Given the description of an element on the screen output the (x, y) to click on. 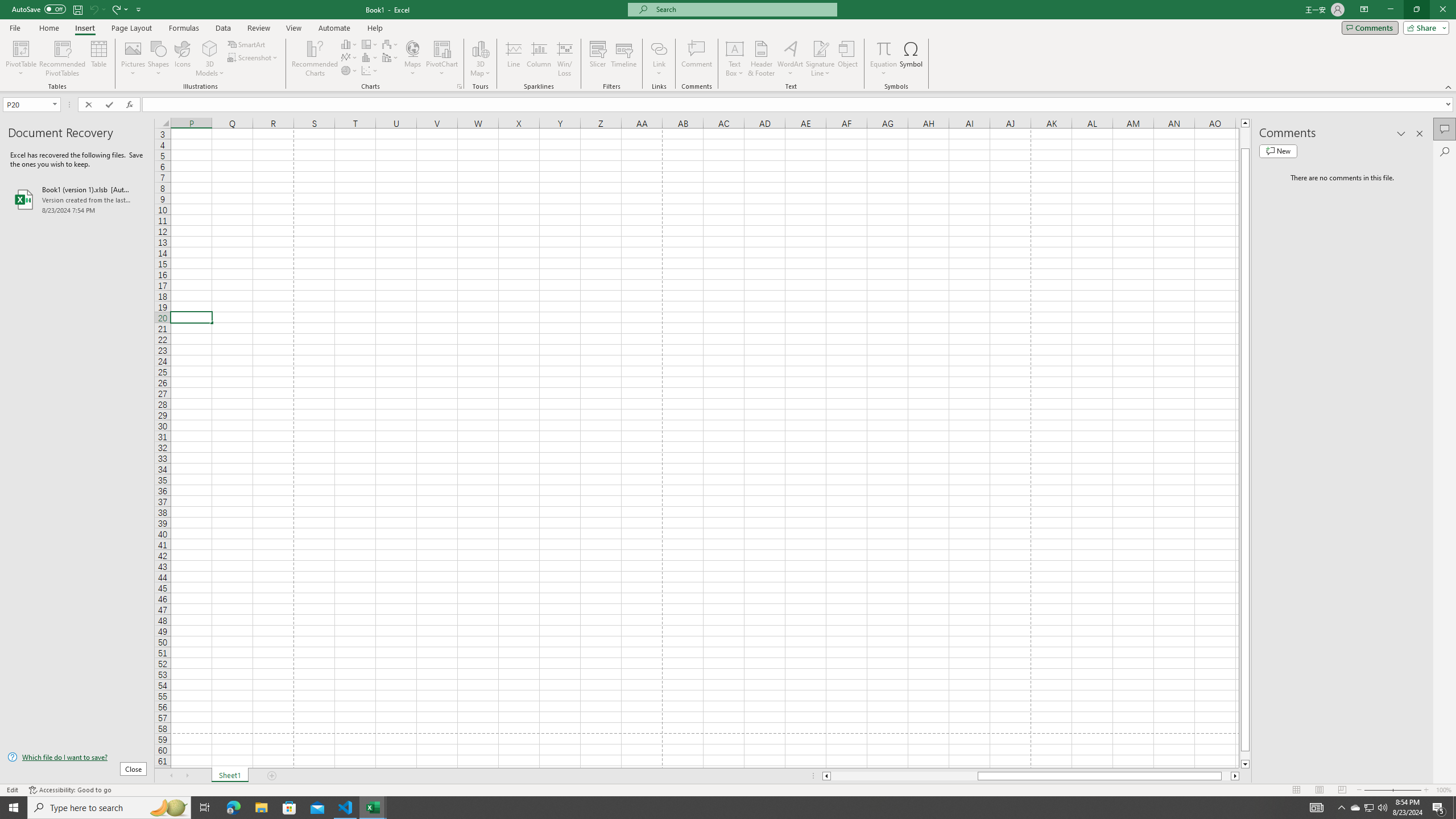
Link (659, 48)
Column (539, 58)
PivotChart (442, 48)
3D Models (210, 58)
Signature Line (820, 58)
Link (659, 58)
Table (98, 58)
Insert Hierarchy Chart (369, 44)
Insert Scatter (X, Y) or Bubble Chart (369, 69)
Recommended Charts (459, 85)
